Given the description of an element on the screen output the (x, y) to click on. 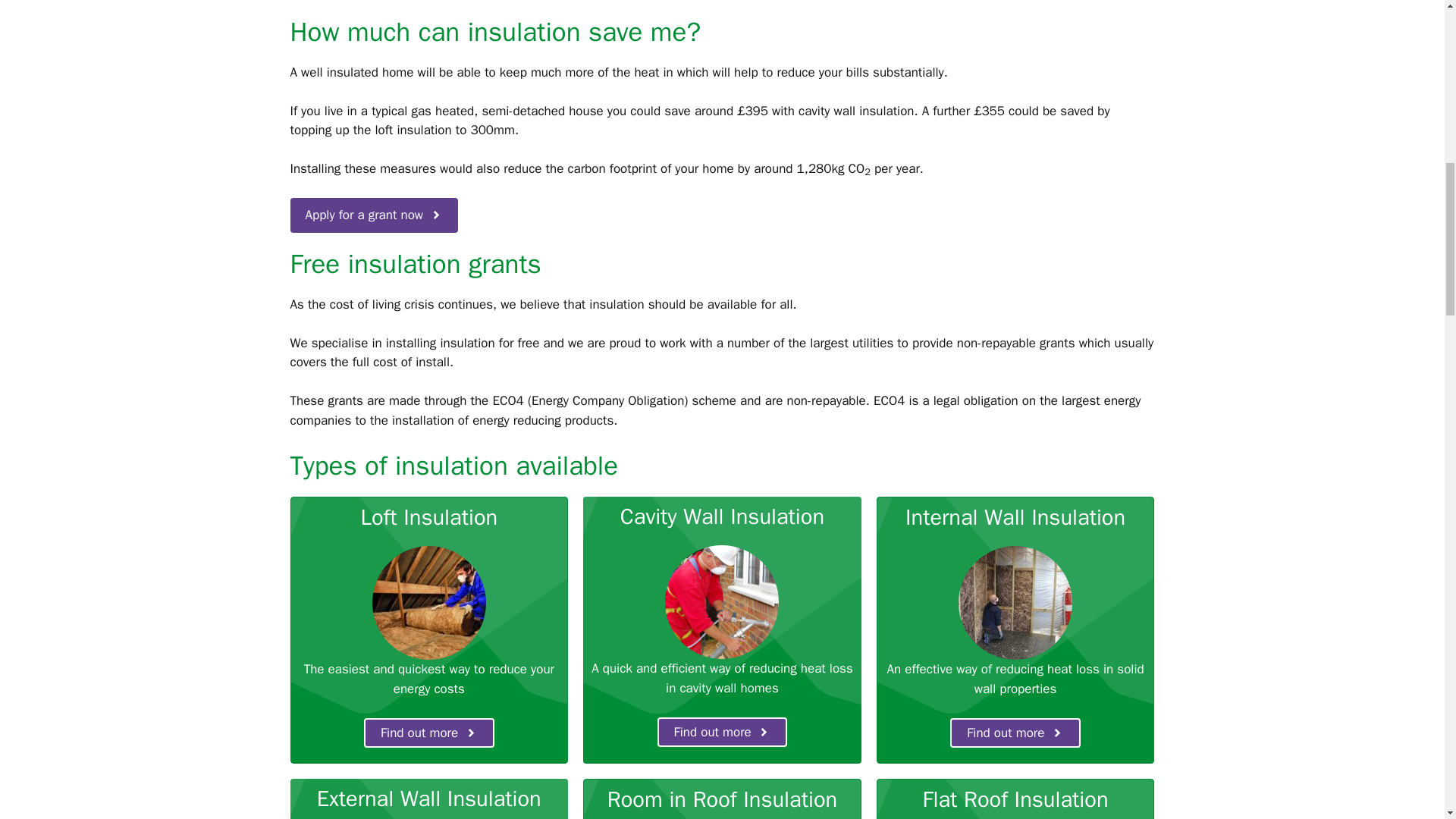
Find out more (429, 733)
Find out more (722, 732)
